Given the description of an element on the screen output the (x, y) to click on. 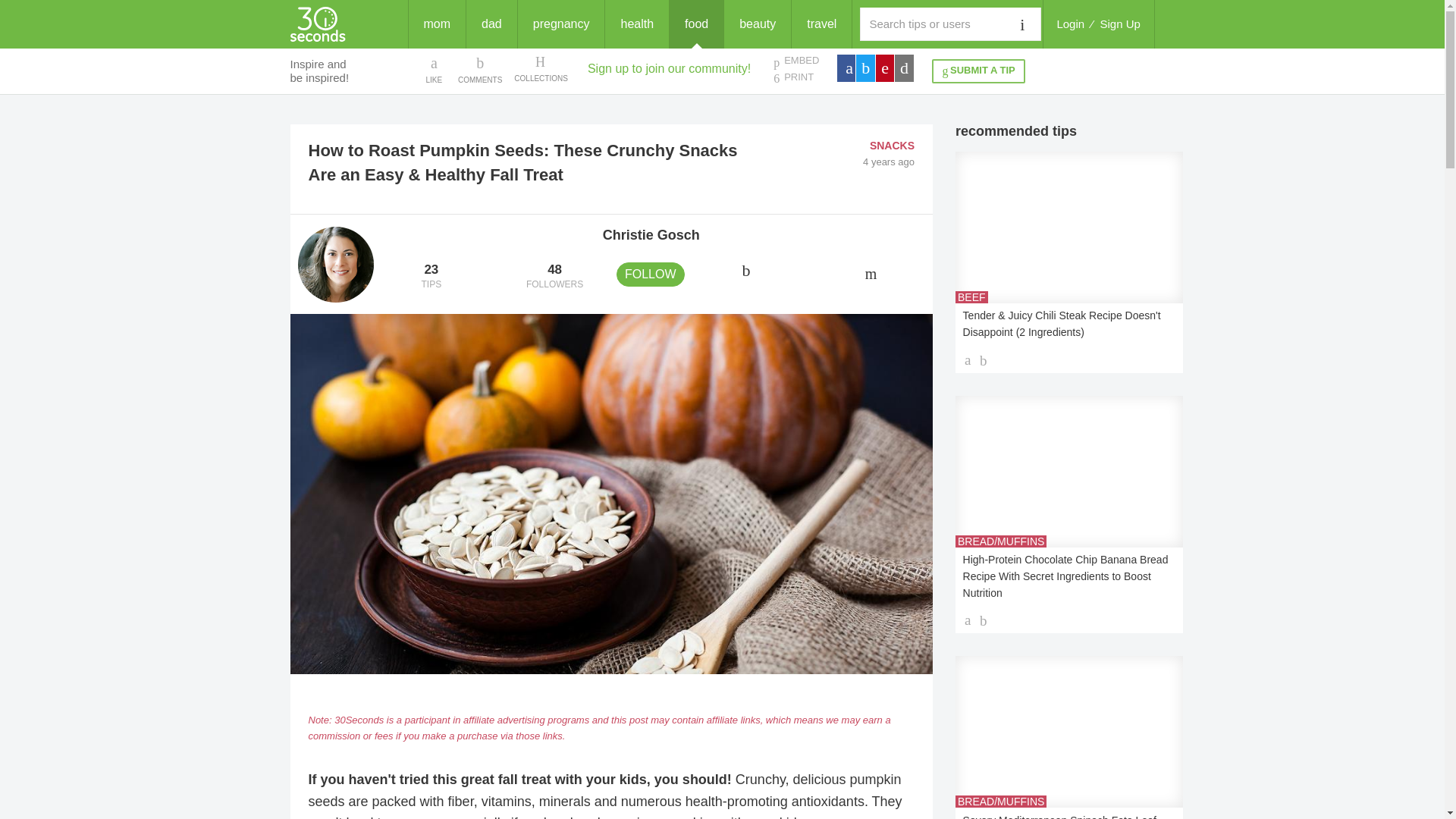
COMMENTS (480, 68)
Christie Gosch (651, 235)
COMMENTS (480, 68)
Login (431, 276)
SUBMIT A TIP (1069, 23)
Sign Up (978, 70)
travel (554, 276)
FOLLOW (1120, 23)
